Given the description of an element on the screen output the (x, y) to click on. 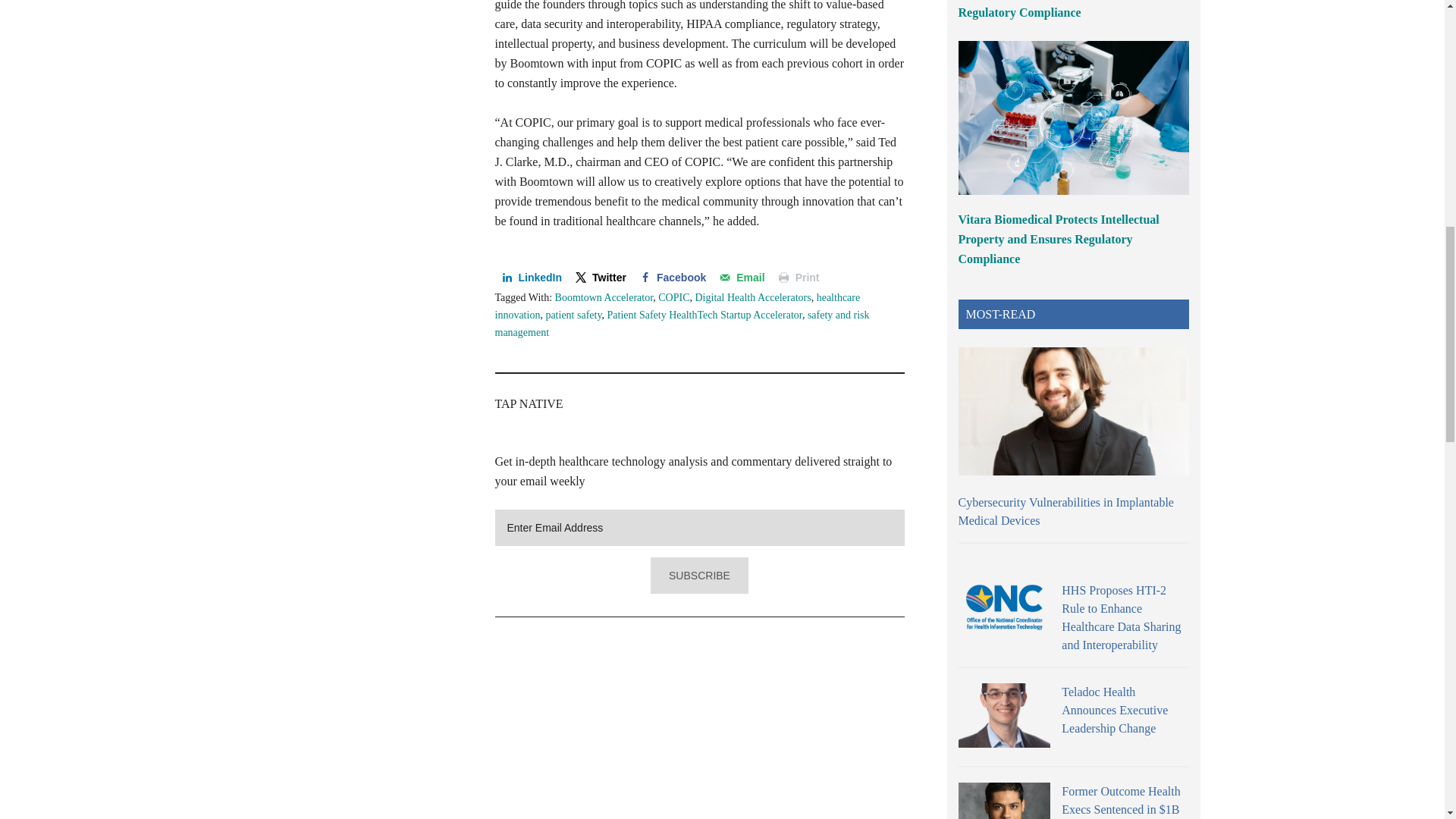
Subscribe (699, 575)
